Given the description of an element on the screen output the (x, y) to click on. 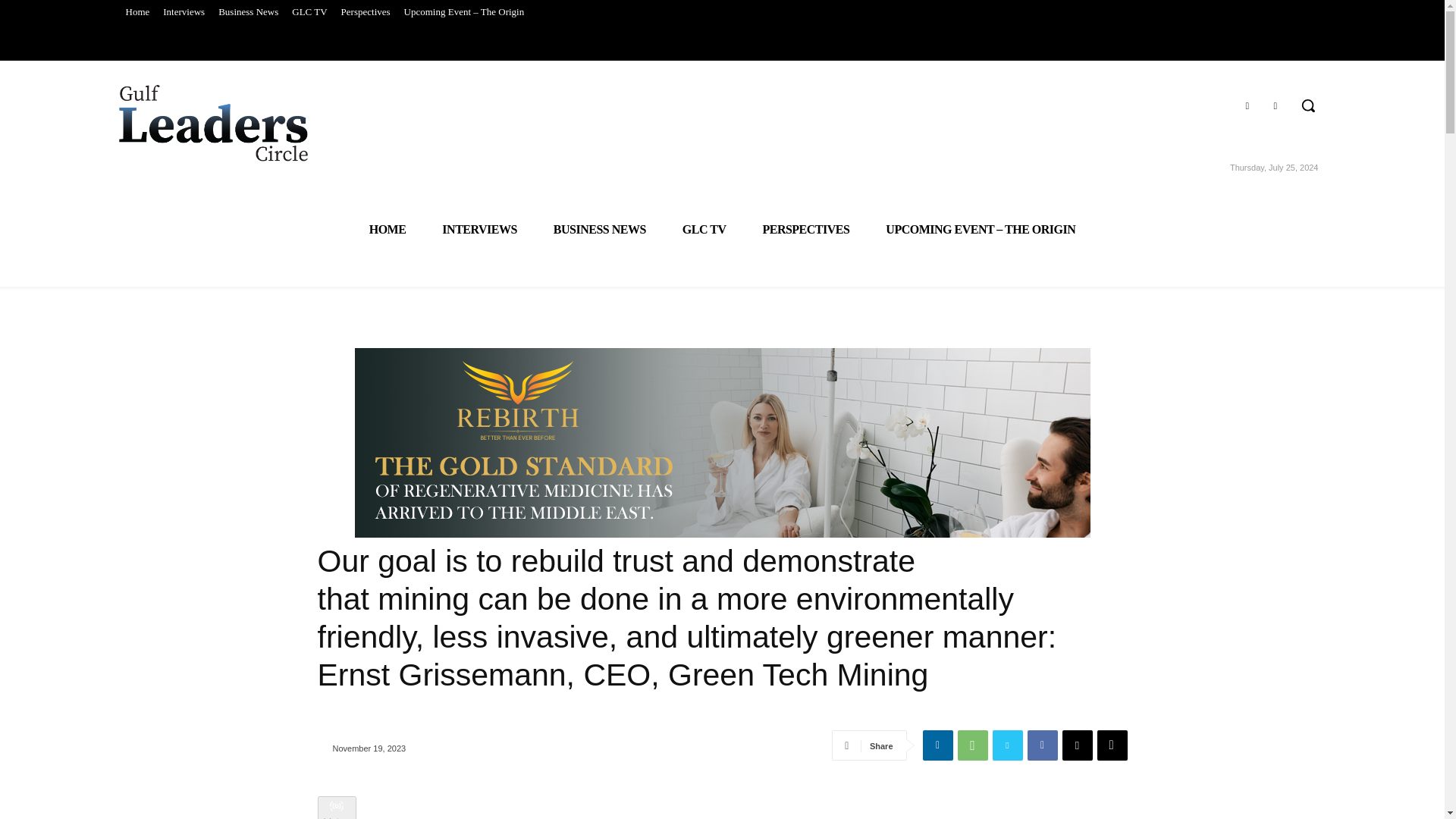
INTERVIEWS (478, 229)
Facebook (1041, 745)
GLC TV (703, 229)
Business News (248, 12)
Twitter (1006, 745)
Linkedin (936, 745)
PERSPECTIVES (805, 229)
BUSINESS NEWS (599, 229)
WhatsApp (971, 745)
HOME (387, 229)
GLC TV (309, 12)
Perspectives (365, 12)
Linkedin (1275, 105)
Home (136, 12)
Interviews (183, 12)
